Given the description of an element on the screen output the (x, y) to click on. 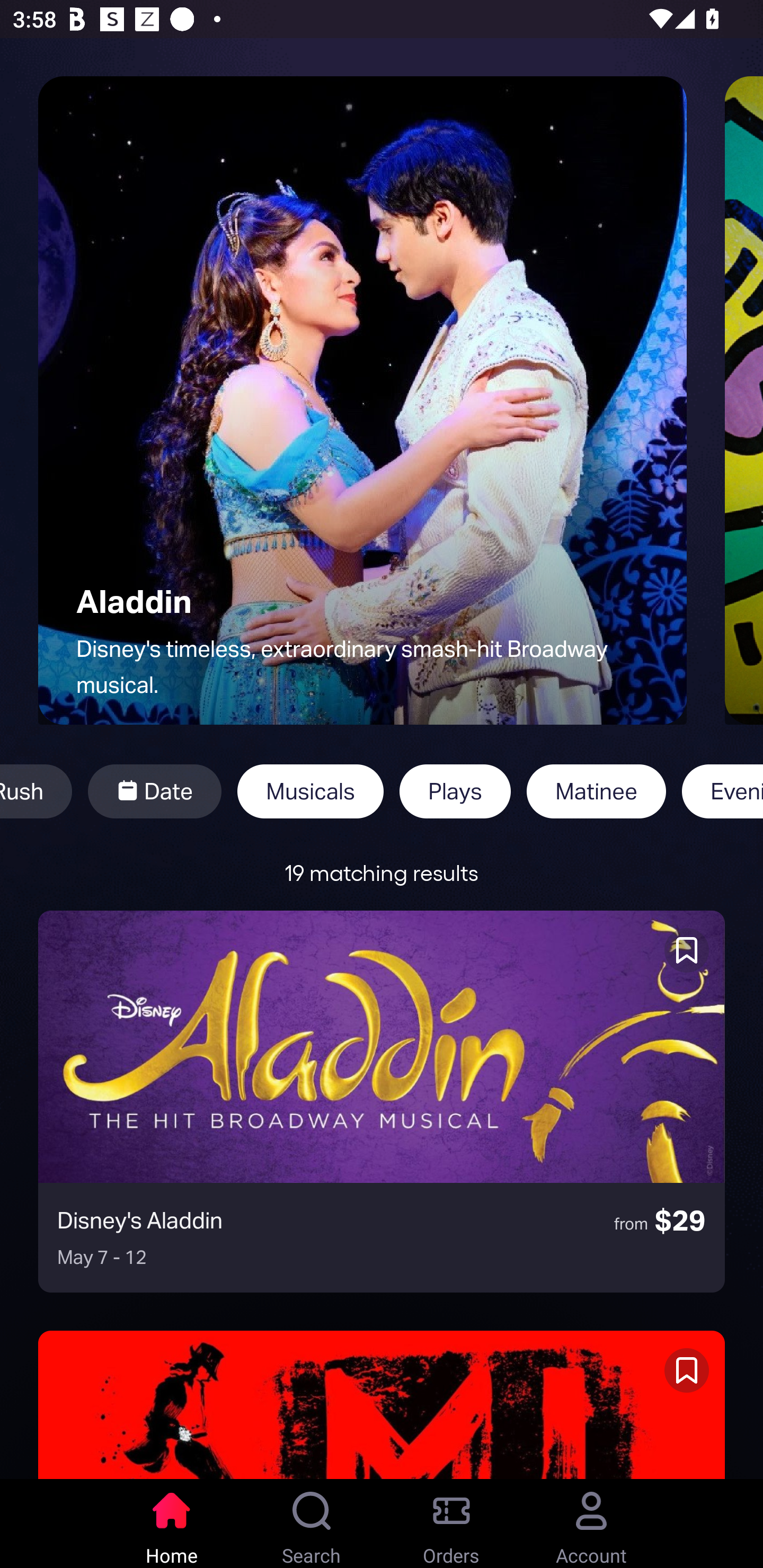
Date (154, 791)
Musicals (310, 791)
Plays (454, 791)
Matinee (596, 791)
Disney's Aladdin from $29 May 7 - 12 (381, 1101)
Search (311, 1523)
Orders (451, 1523)
Account (591, 1523)
